Given the description of an element on the screen output the (x, y) to click on. 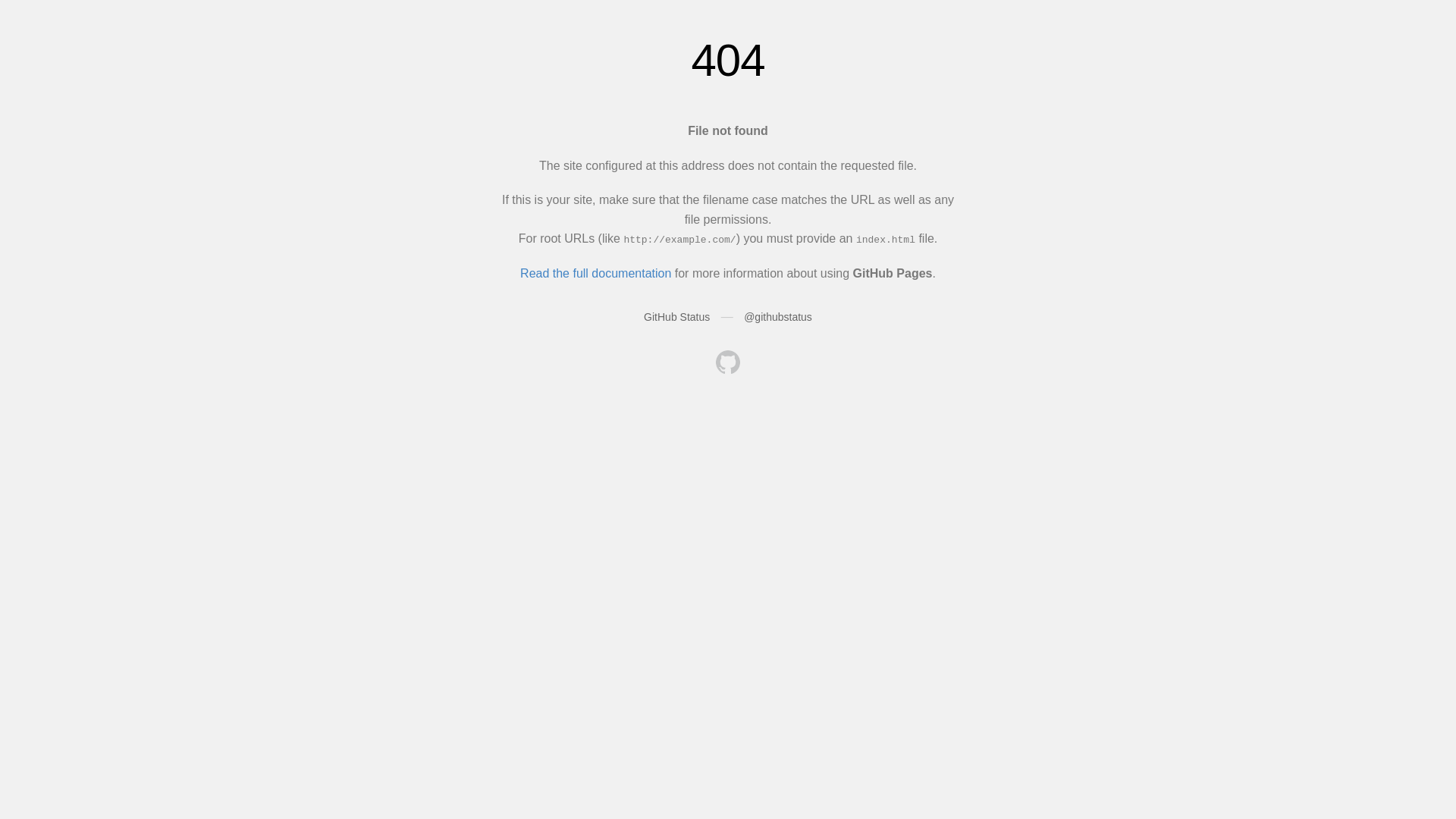
@githubstatus Element type: text (777, 316)
Read the full documentation Element type: text (595, 272)
GitHub Status Element type: text (676, 316)
